Given the description of an element on the screen output the (x, y) to click on. 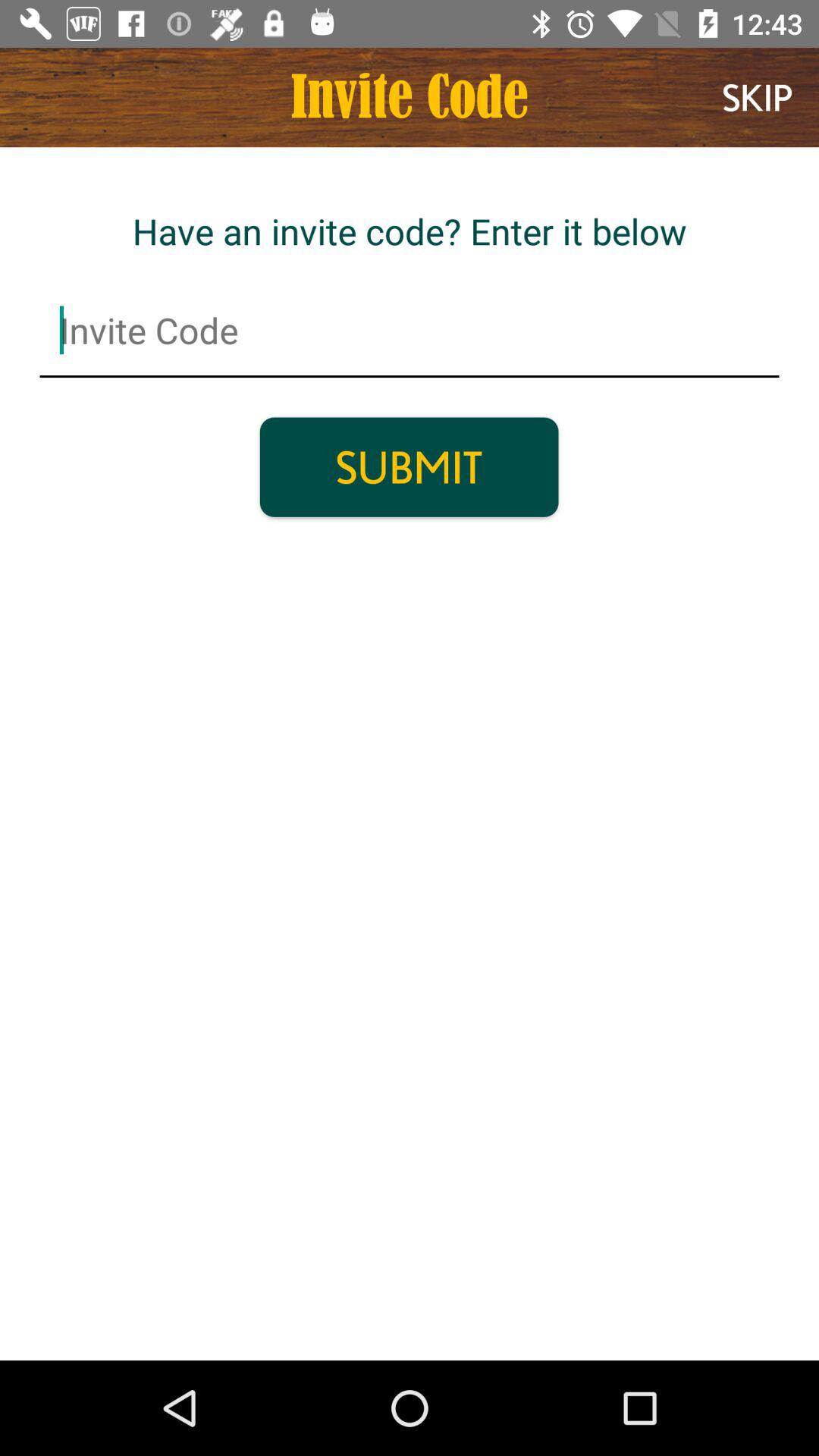
jump to submit (408, 466)
